Given the description of an element on the screen output the (x, y) to click on. 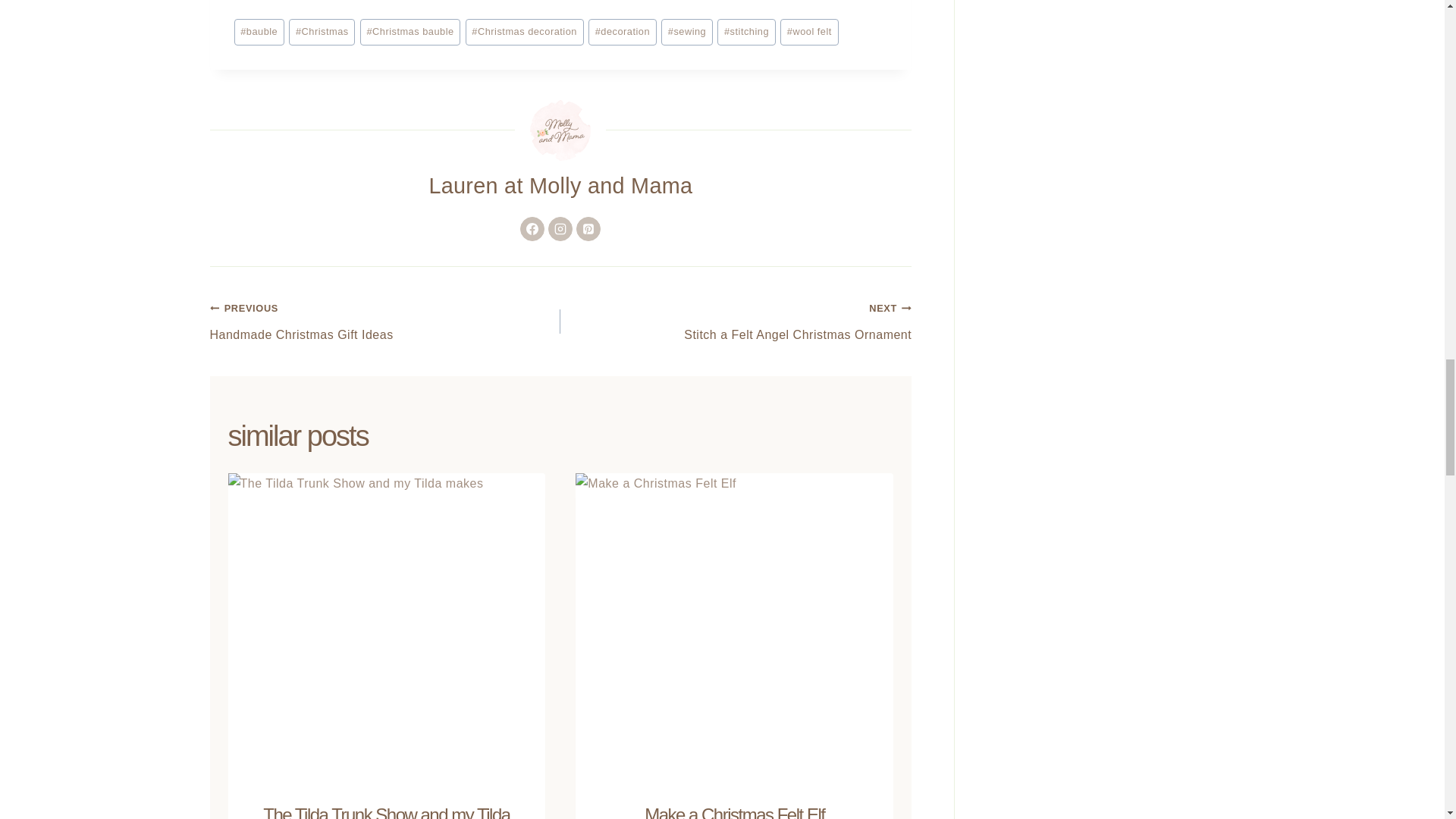
Lauren at Molly and Mama (560, 185)
bauble (735, 321)
The Tilda Trunk Show and my Tilda makes (257, 31)
Christmas (386, 811)
Posts by Lauren at Molly and Mama (321, 31)
Follow Lauren at Molly and Mama on Facebook (560, 185)
sewing (531, 228)
wool felt (687, 31)
Christmas decoration (809, 31)
decoration (524, 31)
Christmas bauble (384, 321)
stitching (622, 31)
